Given the description of an element on the screen output the (x, y) to click on. 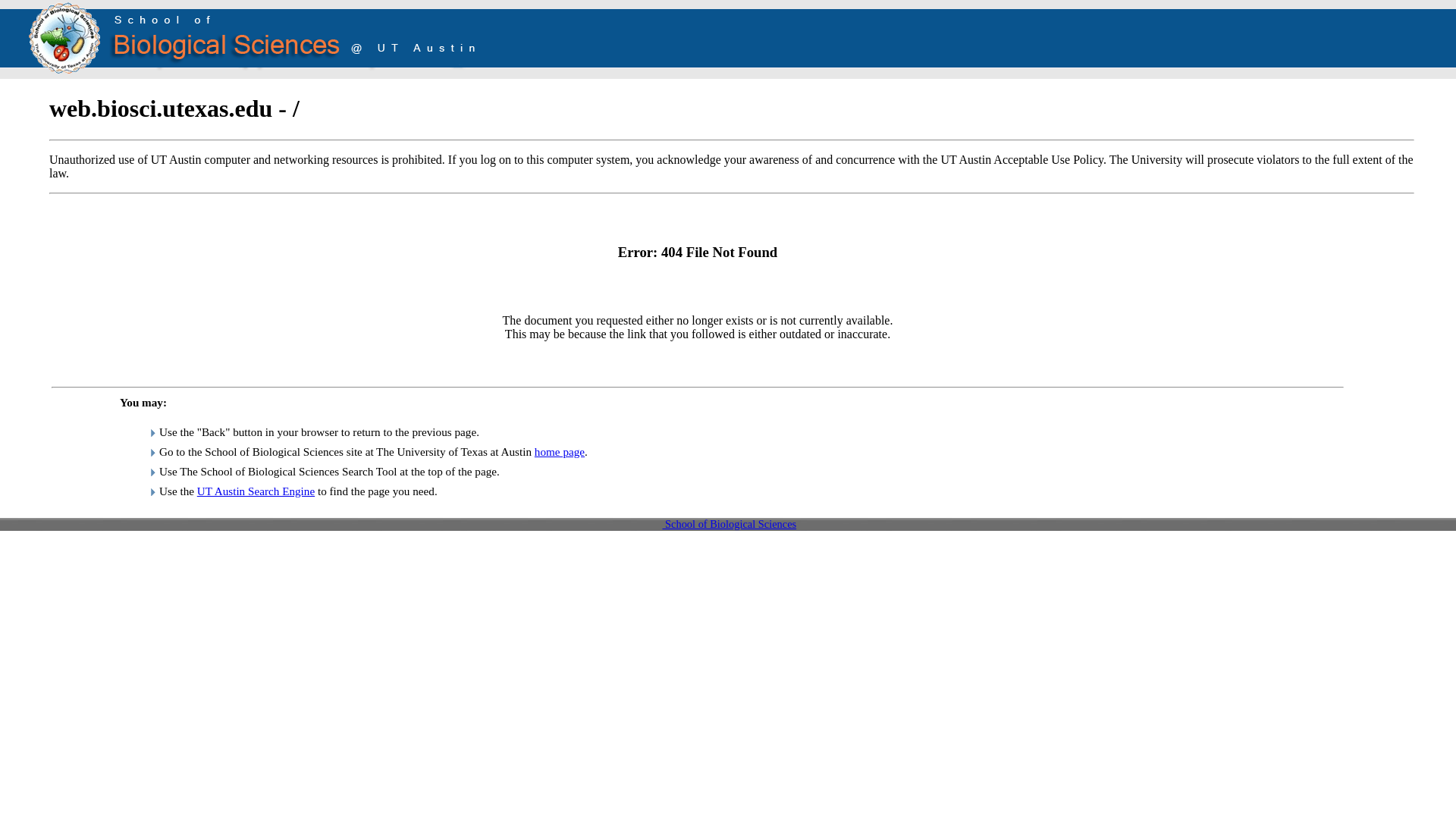
home page (559, 450)
School of Biological Sciences (729, 523)
UT Austin Search Engine (255, 490)
